Given the description of an element on the screen output the (x, y) to click on. 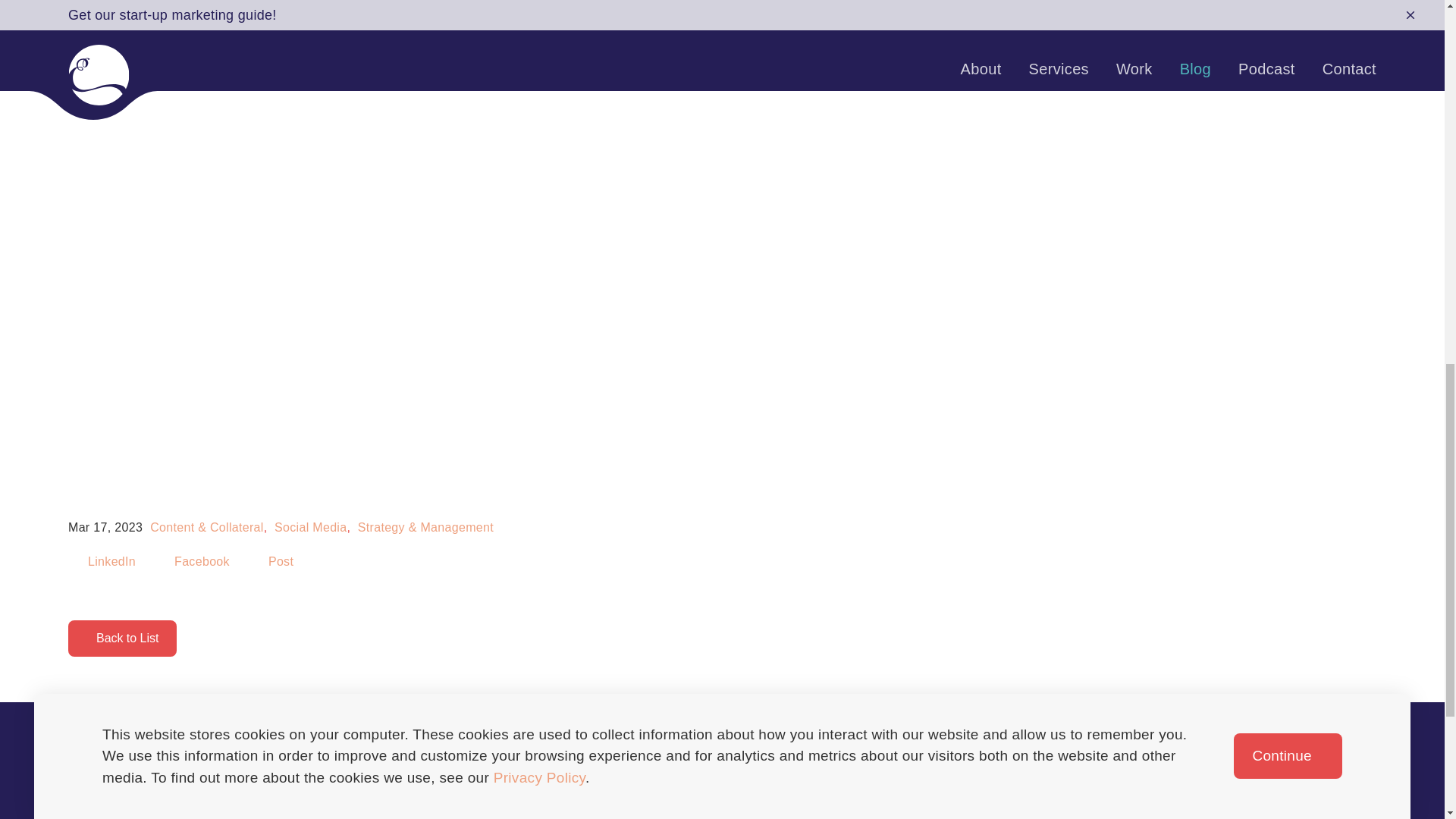
Blog (560, 781)
Site Map (1099, 781)
Work (513, 781)
LinkedIn (105, 561)
Terms (809, 781)
Share to Linked In (105, 561)
Speaking (876, 781)
Facebook (194, 561)
Entry Questionnaire (988, 781)
Home (335, 781)
Post (273, 561)
Contact (685, 781)
Share to X (273, 561)
Share to Facebook (194, 561)
Back to List (122, 637)
